Given the description of an element on the screen output the (x, y) to click on. 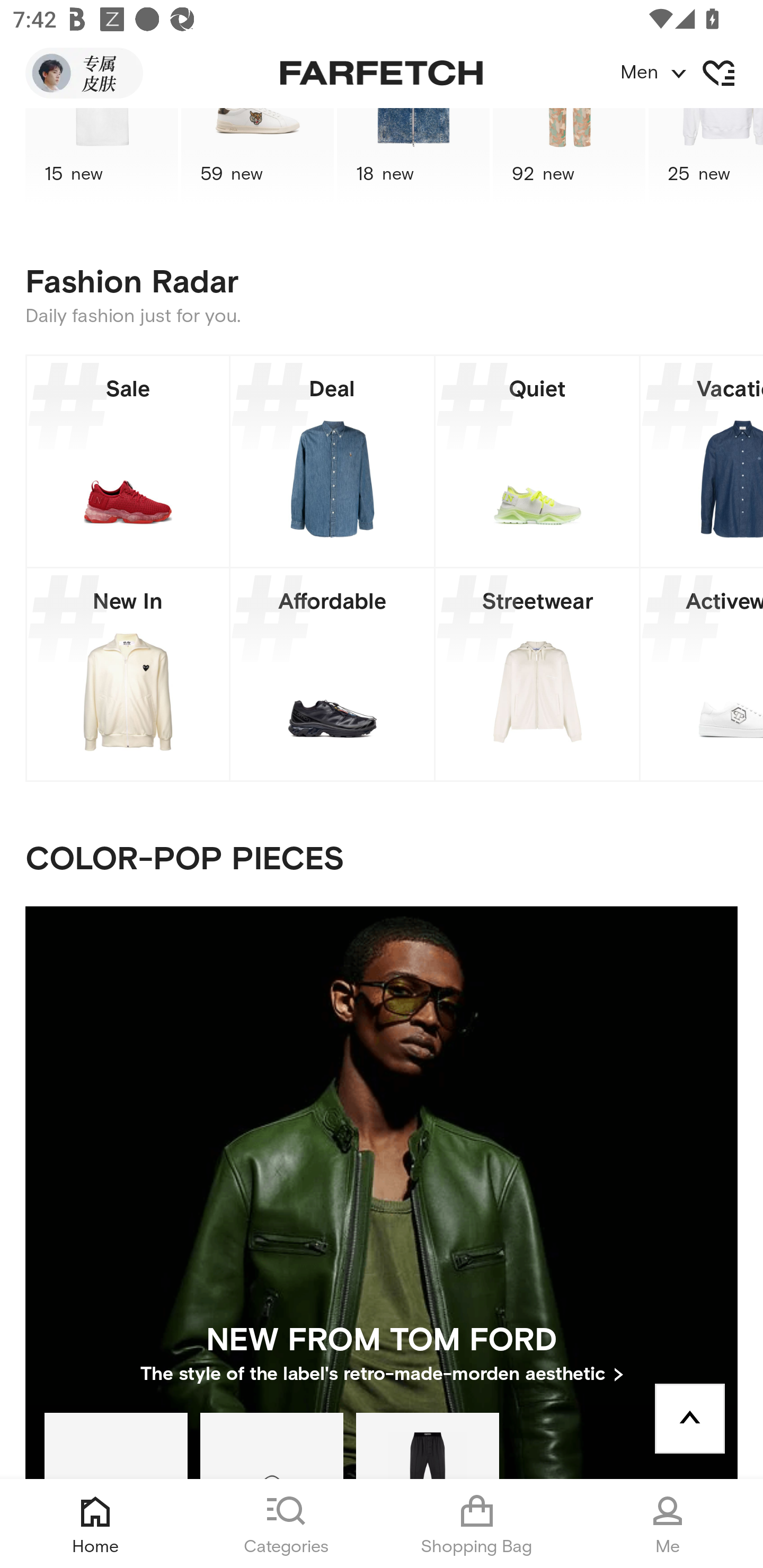
Men (691, 72)
15  new (101, 156)
59  new (257, 156)
18  new (413, 156)
92  new (568, 156)
25  new (705, 156)
Sale (127, 460)
Deal (332, 460)
Quiet (537, 460)
Vacation (701, 460)
New In (127, 673)
Affordable (332, 673)
Streetwear (537, 673)
Activewear (701, 673)
Categories (285, 1523)
Shopping Bag (476, 1523)
Me (667, 1523)
